Given the description of an element on the screen output the (x, y) to click on. 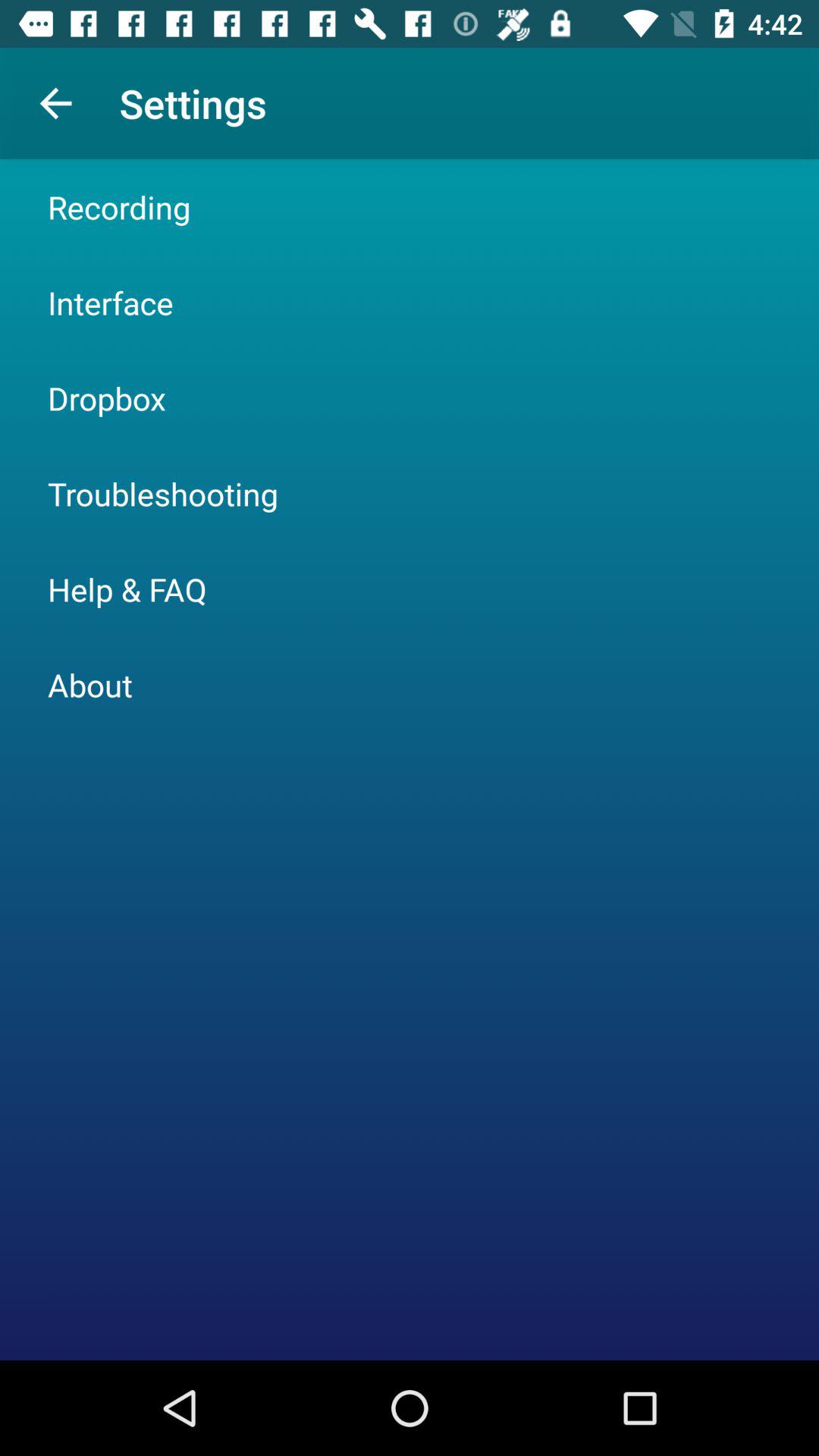
scroll to troubleshooting item (162, 493)
